Given the description of an element on the screen output the (x, y) to click on. 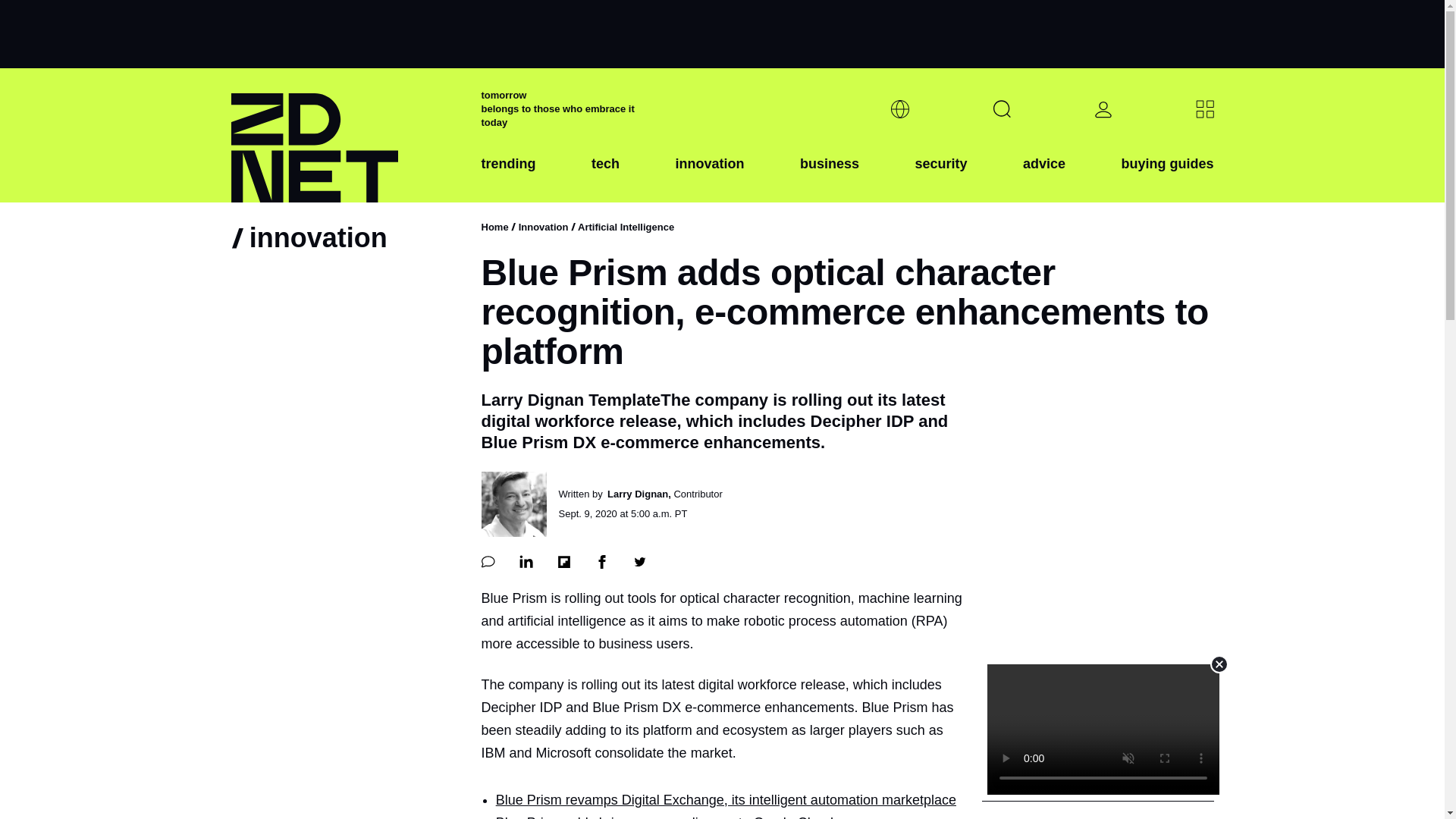
3rd party ad content (721, 33)
trending (507, 175)
ZDNET (346, 134)
